Given the description of an element on the screen output the (x, y) to click on. 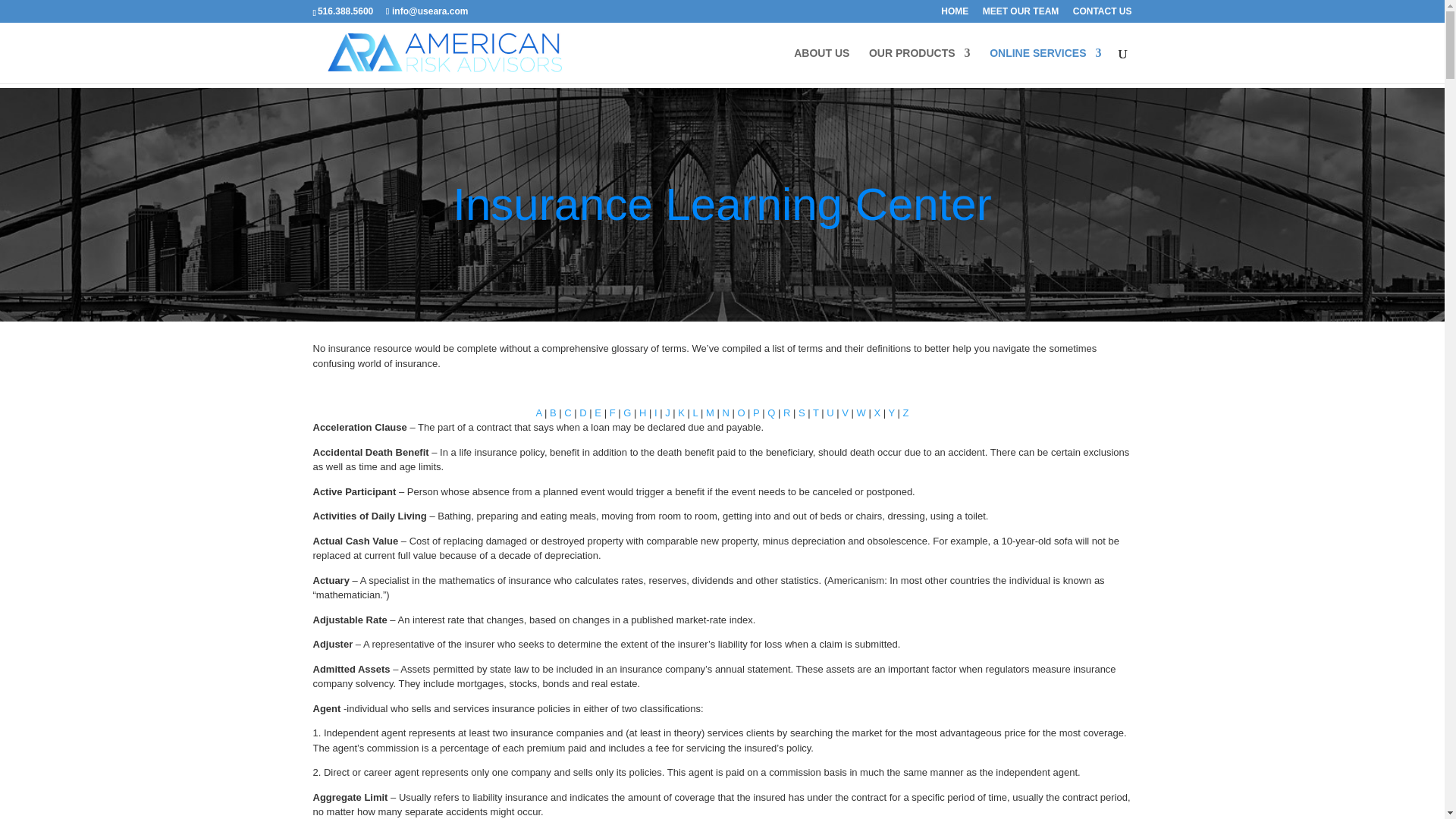
OUR PRODUCTS (920, 65)
CONTACT US (1102, 14)
MEET OUR TEAM (1020, 14)
ABOUT US (820, 65)
HOME (954, 14)
ONLINE SERVICES (1045, 65)
